Given the description of an element on the screen output the (x, y) to click on. 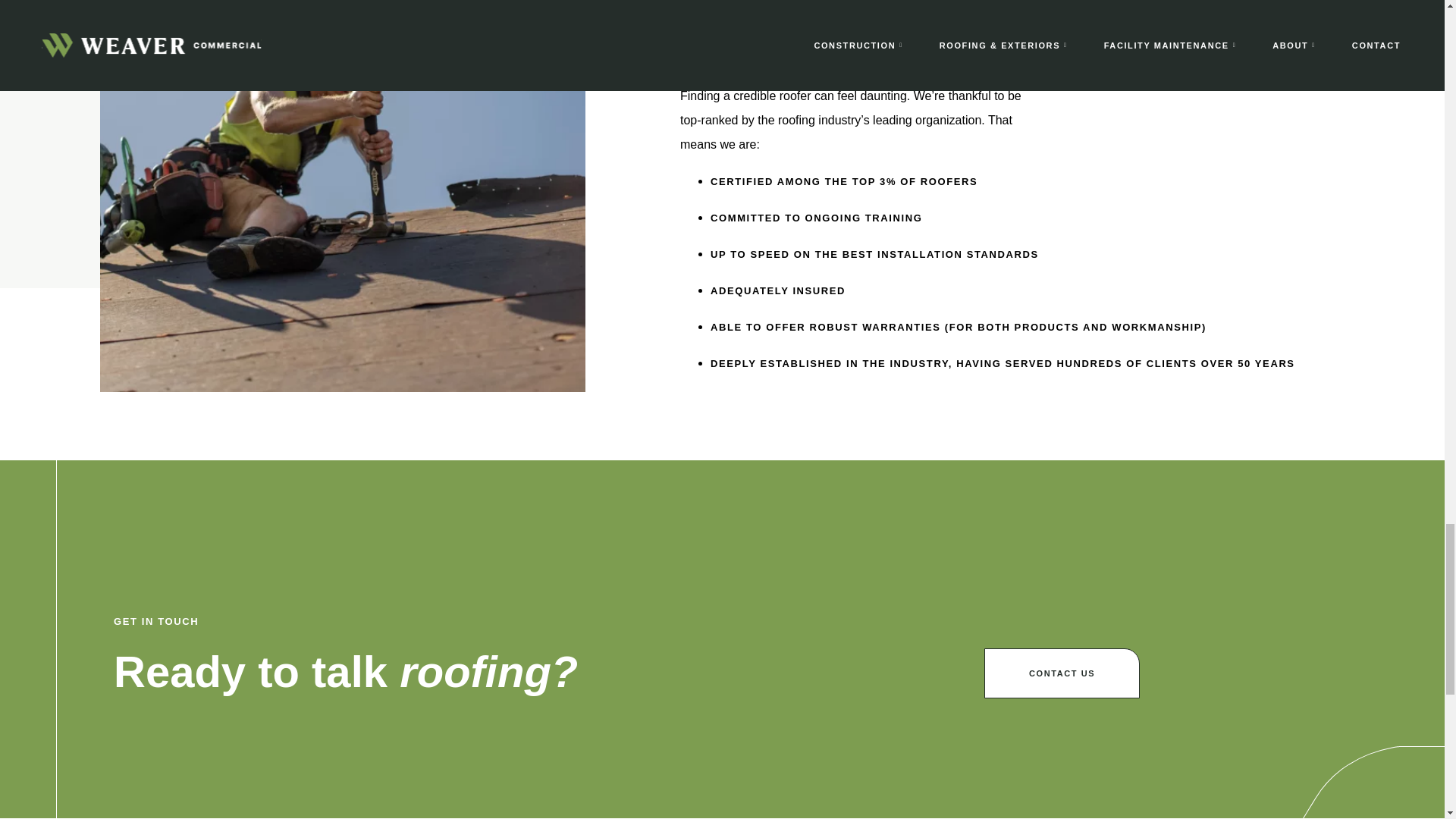
CONTACT US (1062, 673)
